Given the description of an element on the screen output the (x, y) to click on. 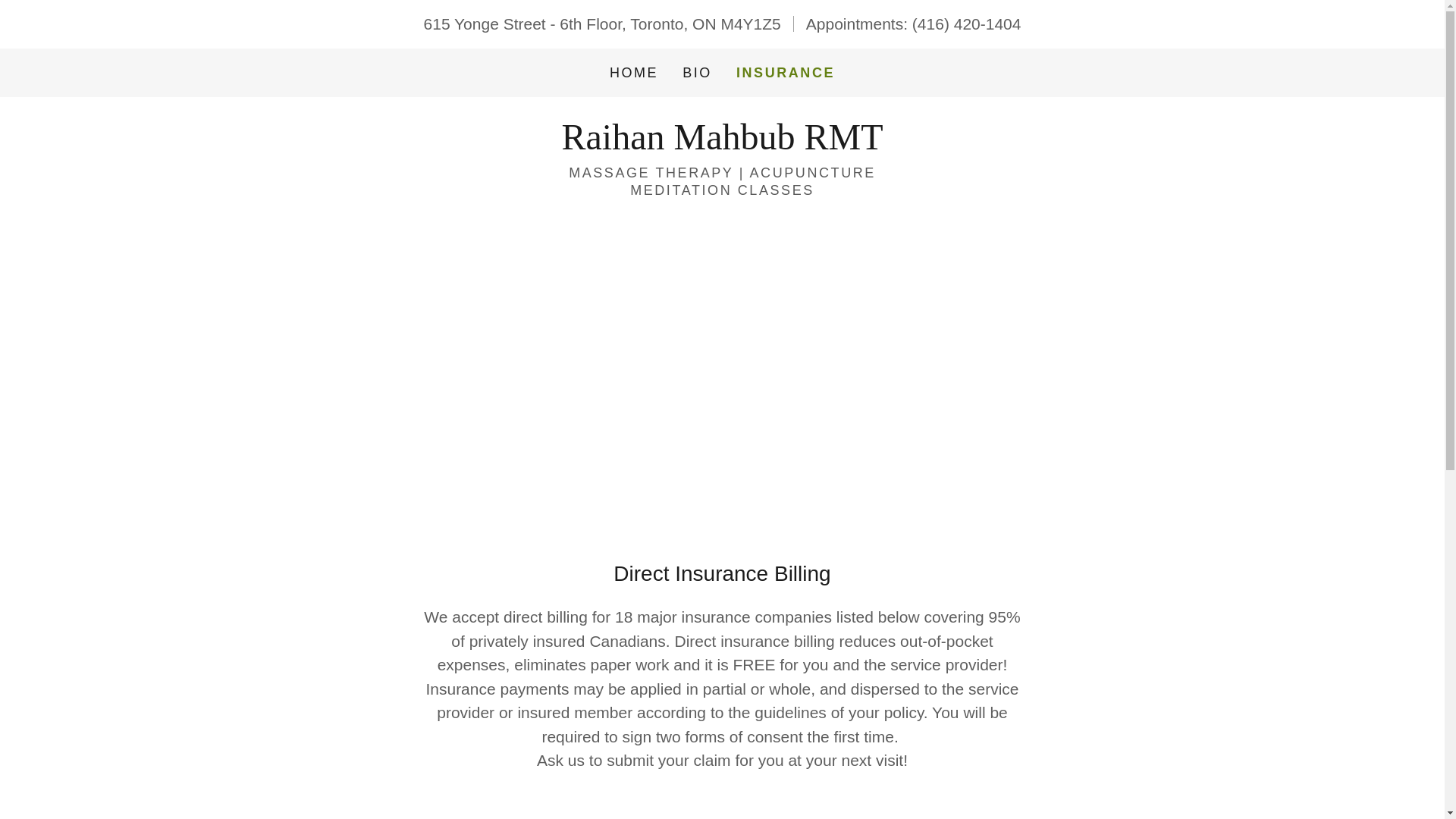
Raihan Mahbub RMT (721, 143)
Raihan Mahbub RMT (721, 143)
HOME (633, 72)
BIO (697, 72)
INSURANCE (785, 72)
